Given the description of an element on the screen output the (x, y) to click on. 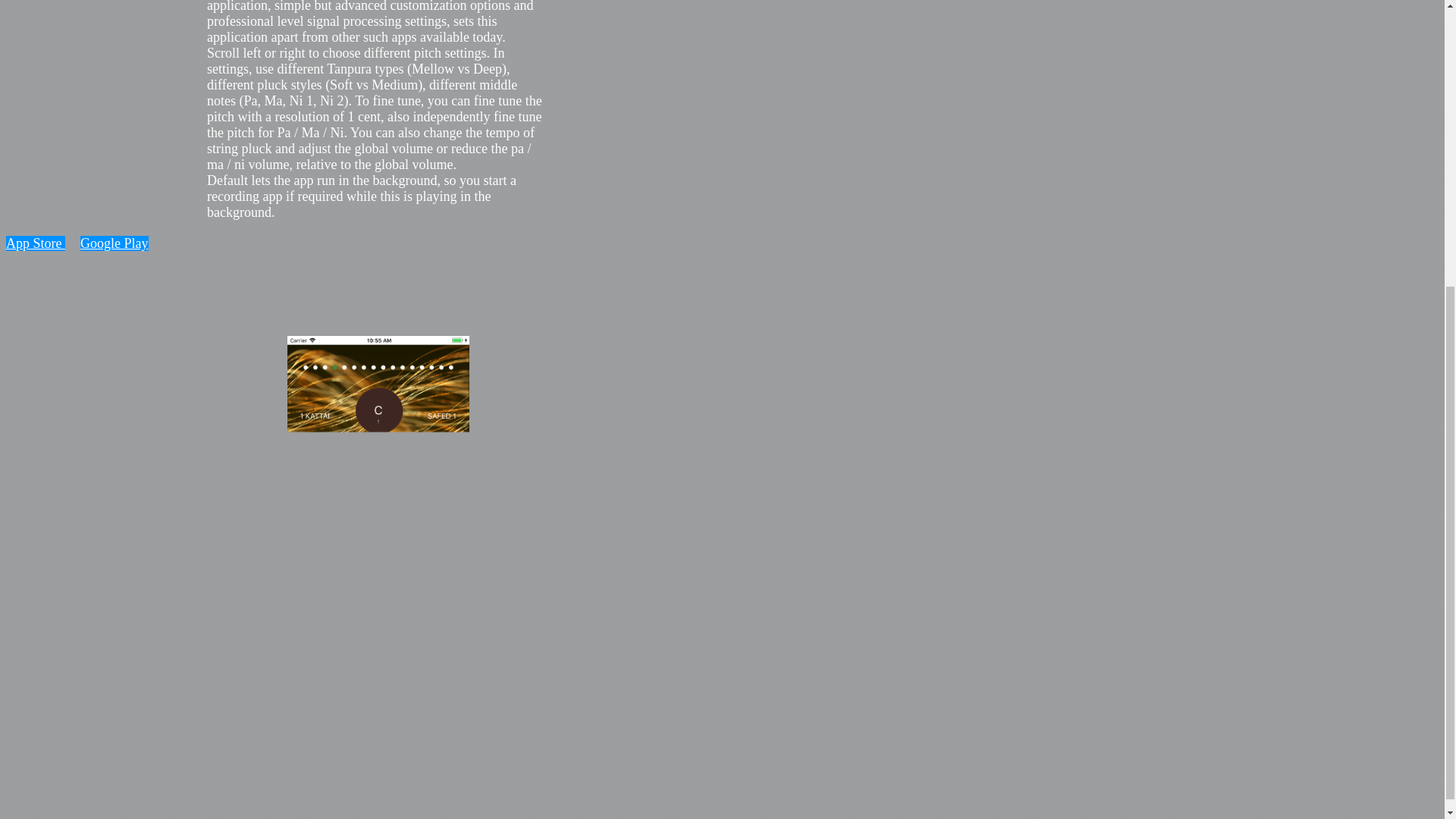
Google Play (114, 242)
App Store (35, 242)
